Given the description of an element on the screen output the (x, y) to click on. 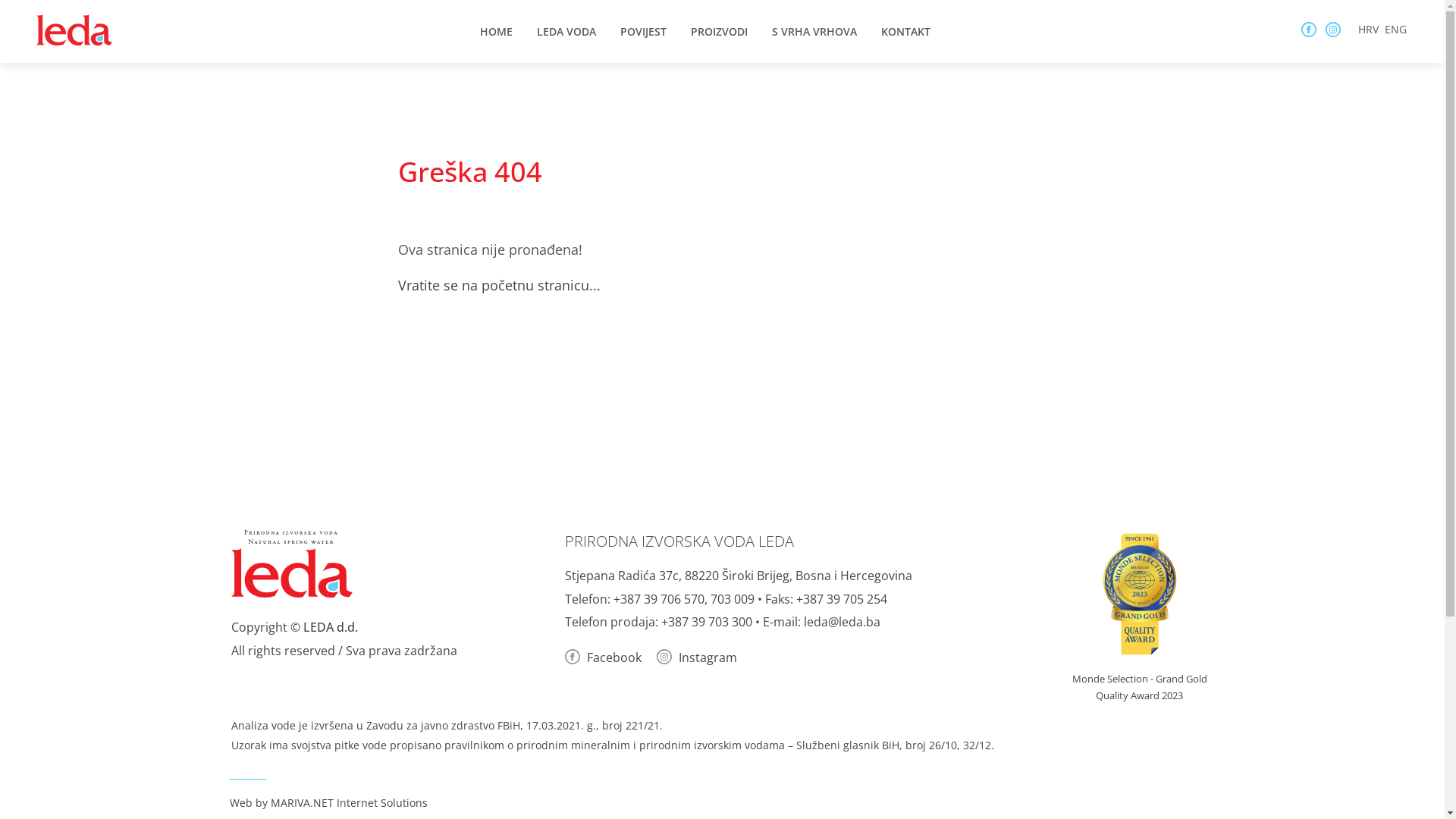
S VRHA VRHOVA Element type: text (814, 29)
KONTAKT Element type: text (905, 29)
PROIZVODI Element type: text (718, 29)
Instagram Element type: text (696, 657)
ENG Element type: text (1395, 28)
    HRV  Element type: text (1363, 28)
leda@leda.ba Element type: text (841, 621)
Facebook Element type: text (602, 657)
LEDA VODA Element type: text (566, 29)
POVIJEST Element type: text (643, 29)
MARIVA.NET Internet Solutions Element type: text (347, 802)
HOME Element type: text (495, 29)
